Given the description of an element on the screen output the (x, y) to click on. 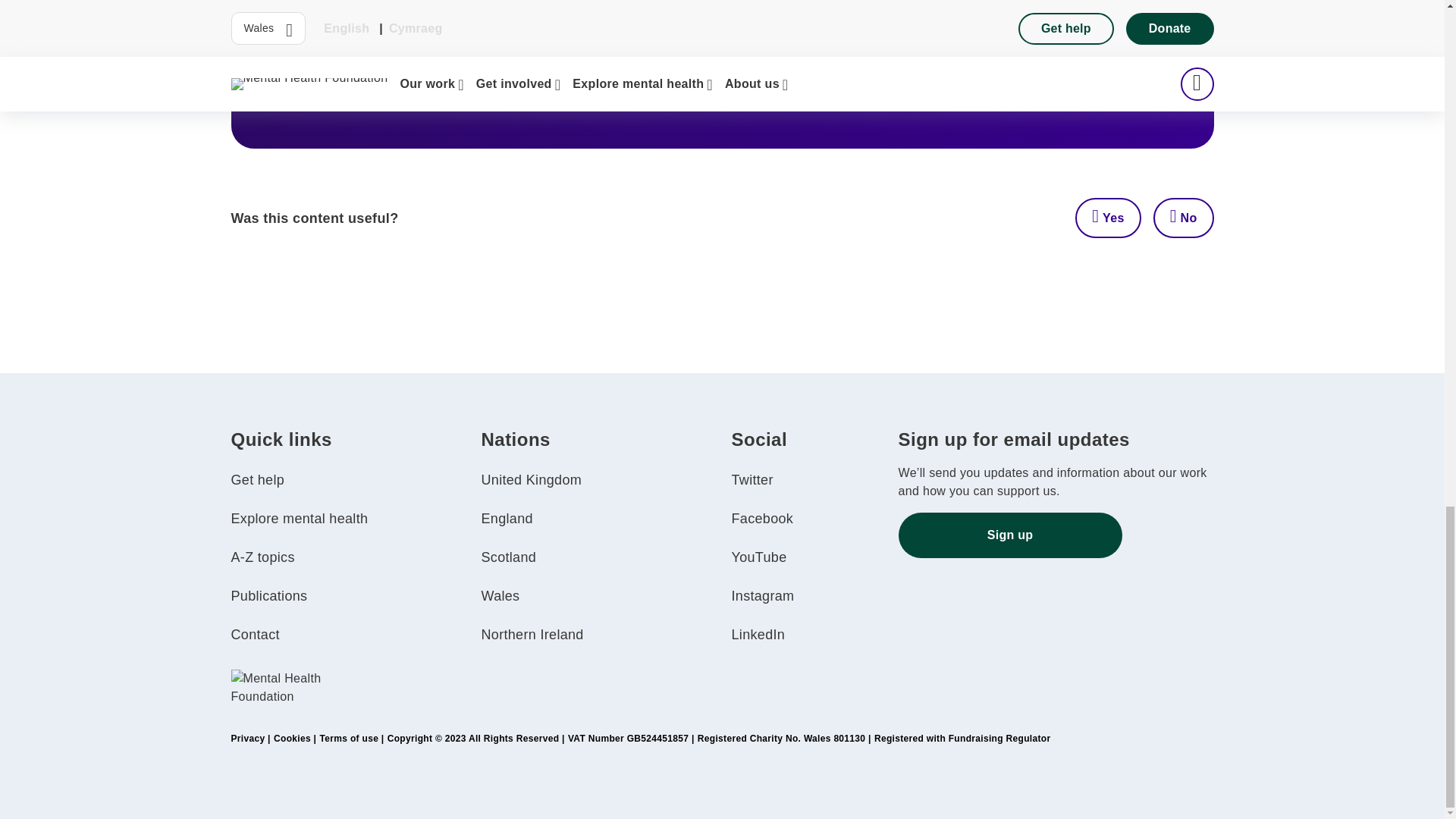
YouTube (758, 557)
Twitter (751, 479)
Facebook (761, 518)
